Given the description of an element on the screen output the (x, y) to click on. 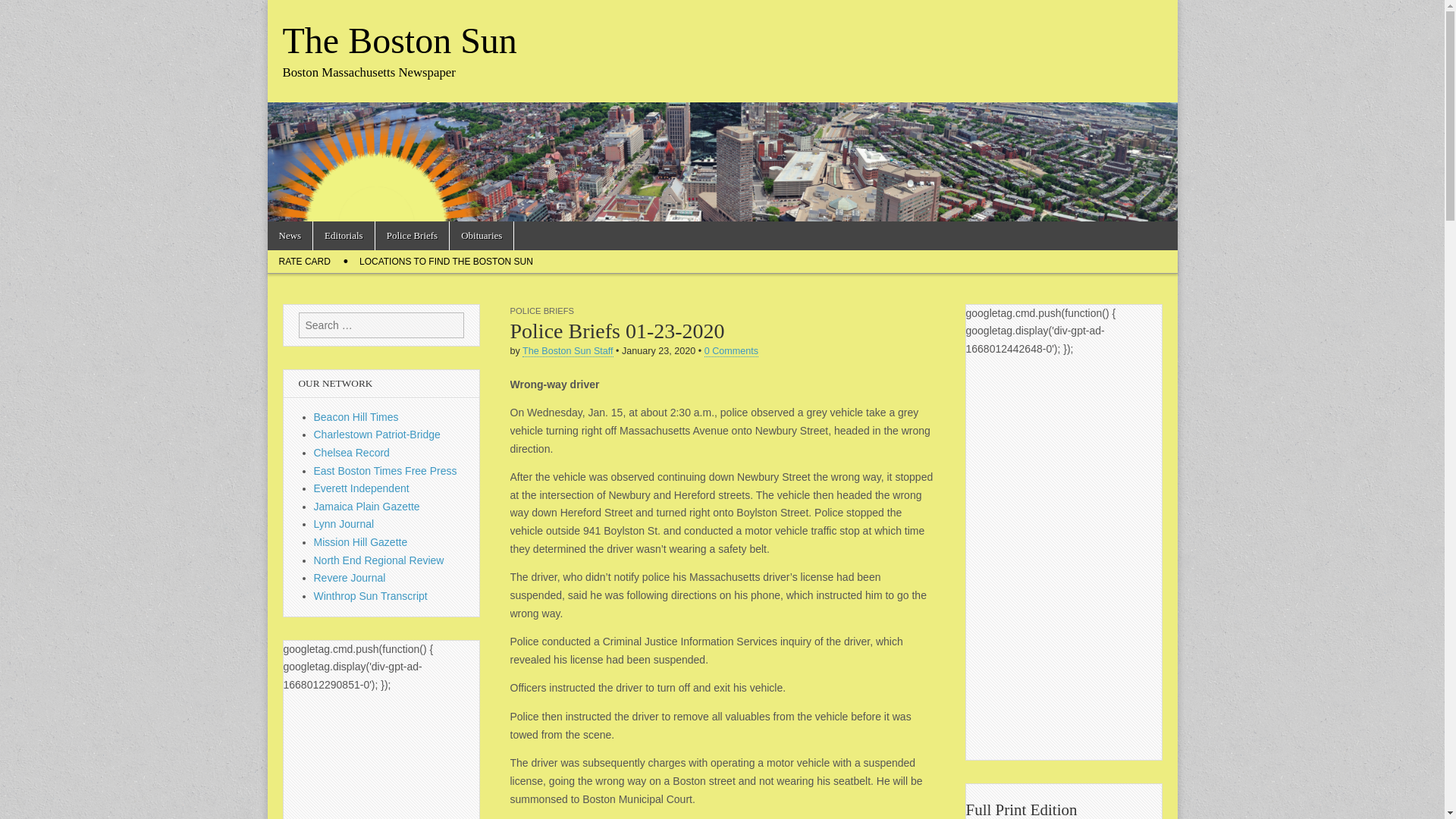
Winthrop Sun Transcript (371, 595)
East Boston Times Free Press (385, 470)
LOCATIONS TO FIND THE BOSTON SUN (445, 261)
The Boston Sun Staff (567, 351)
Search (23, 12)
Police Briefs (412, 235)
Lynn Journal (344, 523)
POLICE BRIEFS (541, 310)
Jamaica Plain Gazette (367, 506)
Charlestown Patriot-Bridge (377, 434)
